Given the description of an element on the screen output the (x, y) to click on. 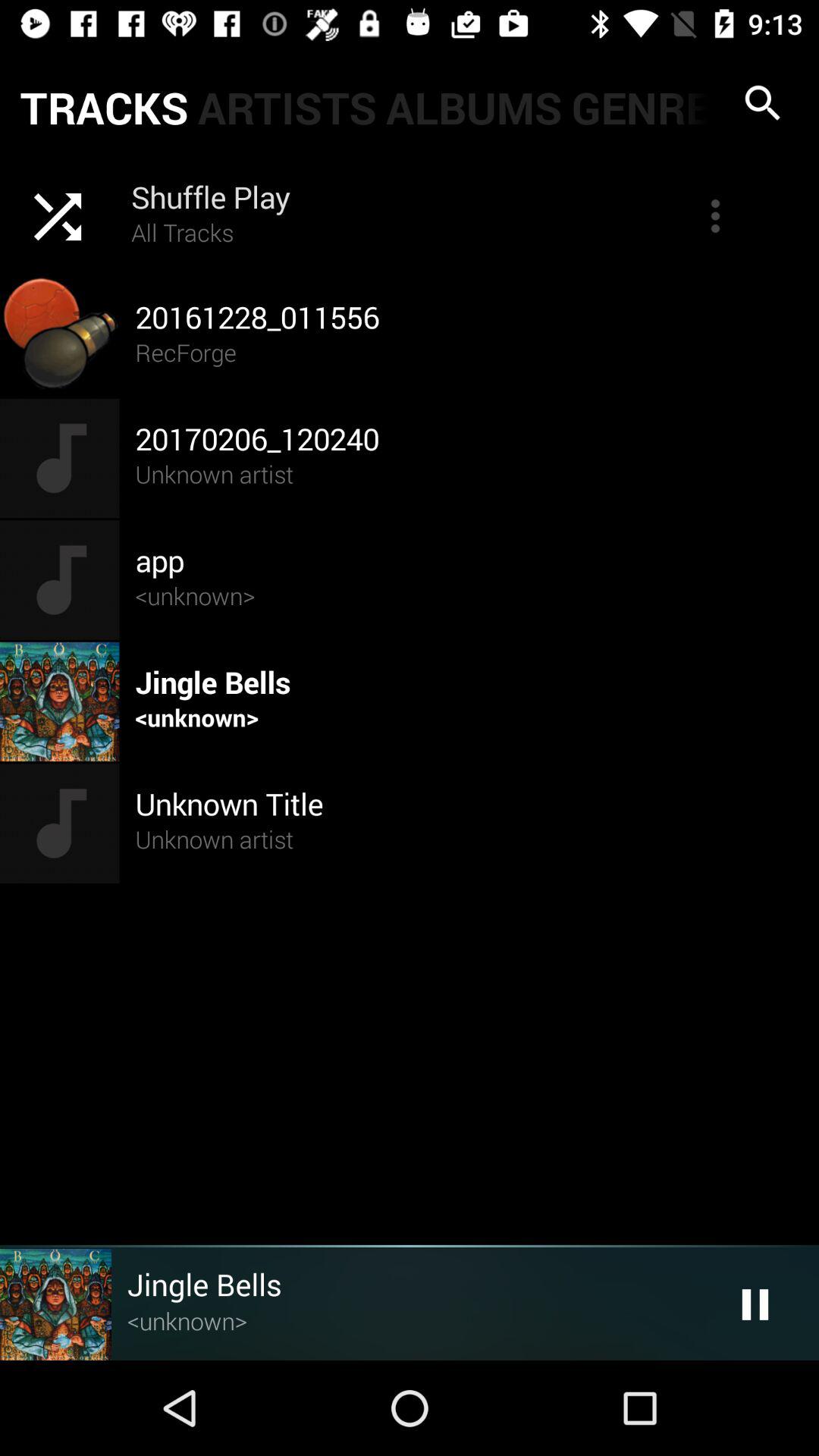
click on more icon at top right (714, 215)
the pause button at right bottom corner (755, 1304)
